Given the description of an element on the screen output the (x, y) to click on. 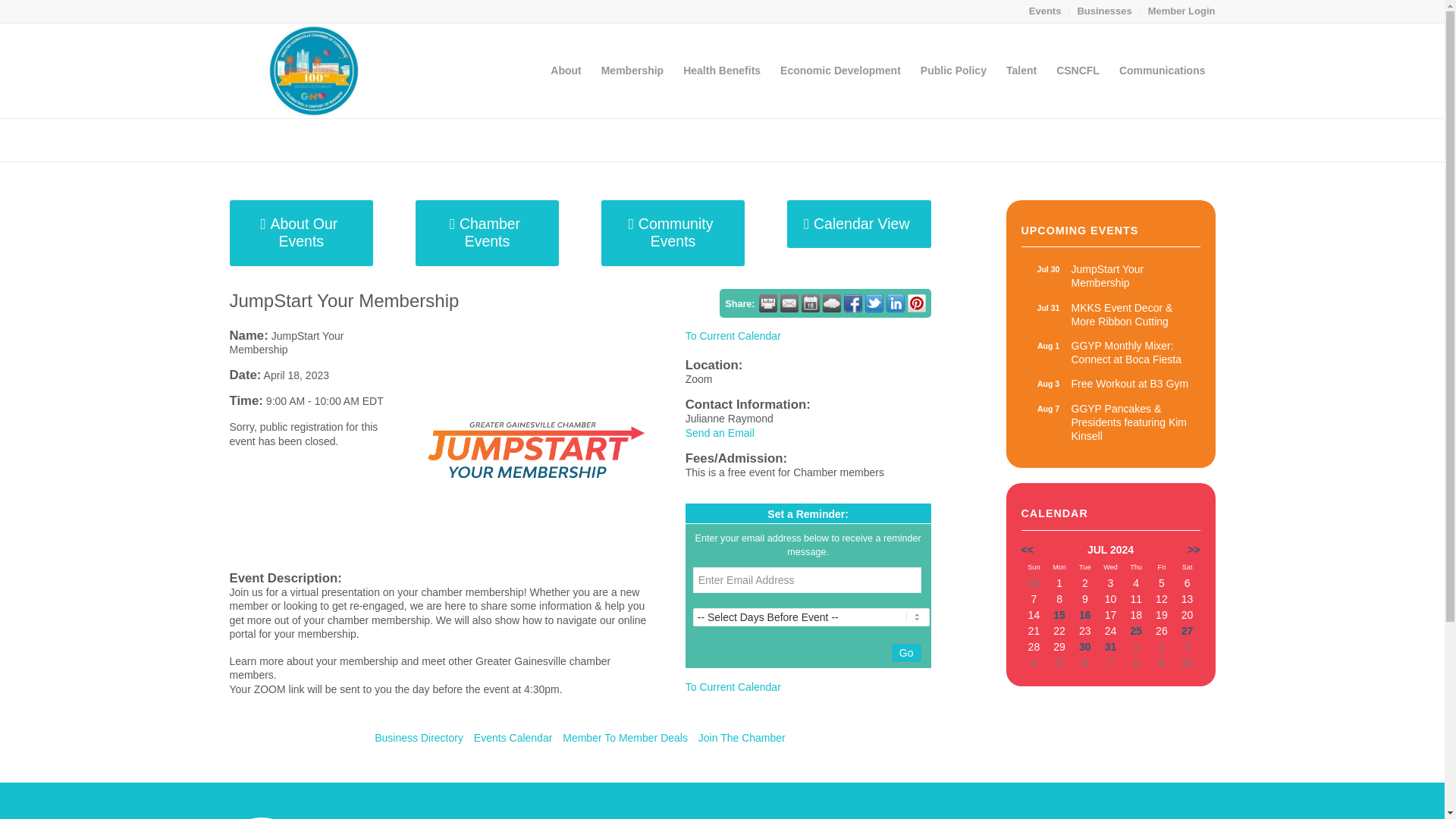
Share on Facebook (852, 303)
Economic Development (840, 70)
Next Month (1193, 549)
Aug 1 (1109, 352)
Jul 30 (1048, 345)
View Current Weather (1048, 269)
Enter Email Address (831, 303)
Events (807, 579)
Jul 31 (1045, 11)
Businesses (1048, 307)
Health Benefits (1104, 11)
Aug 7 (721, 70)
Greater Gainesville Chamber of Commerce (1048, 408)
